Given the description of an element on the screen output the (x, y) to click on. 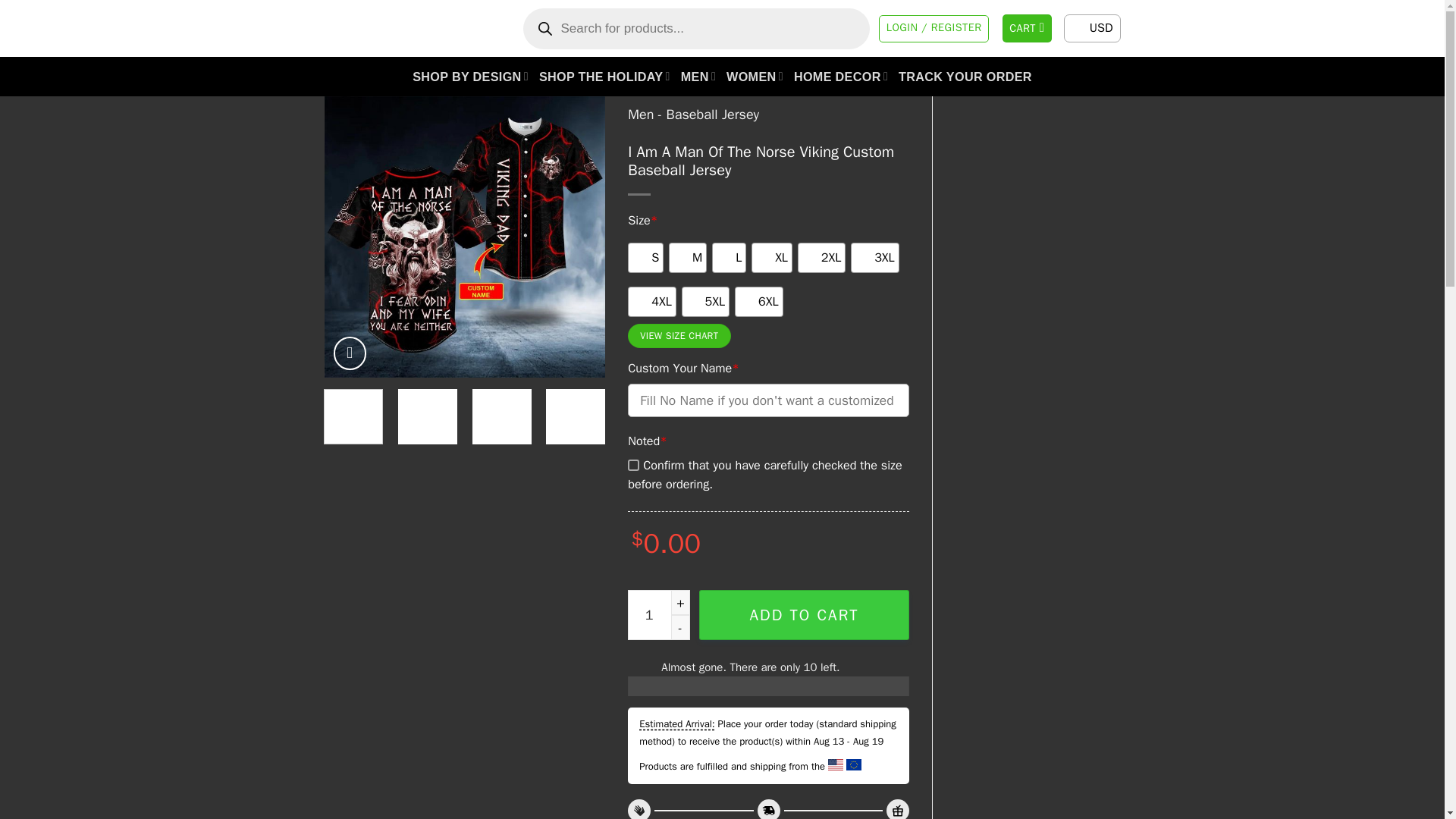
3XL (874, 257)
XL (771, 257)
TRACK YOUR ORDER (965, 76)
Cart (1027, 28)
I Am A Man Of The Norse Viking Custom Baseball Jersey (464, 236)
Zoom (349, 353)
1 (658, 614)
WOMEN (754, 76)
CART (1027, 28)
HOME DECOR (840, 76)
L (728, 257)
S (645, 257)
I Am A Man Of The Norse Viking Custom Baseball Jersey (1026, 236)
2XL (821, 257)
SHOP BY DESIGN (470, 76)
